Given the description of an element on the screen output the (x, y) to click on. 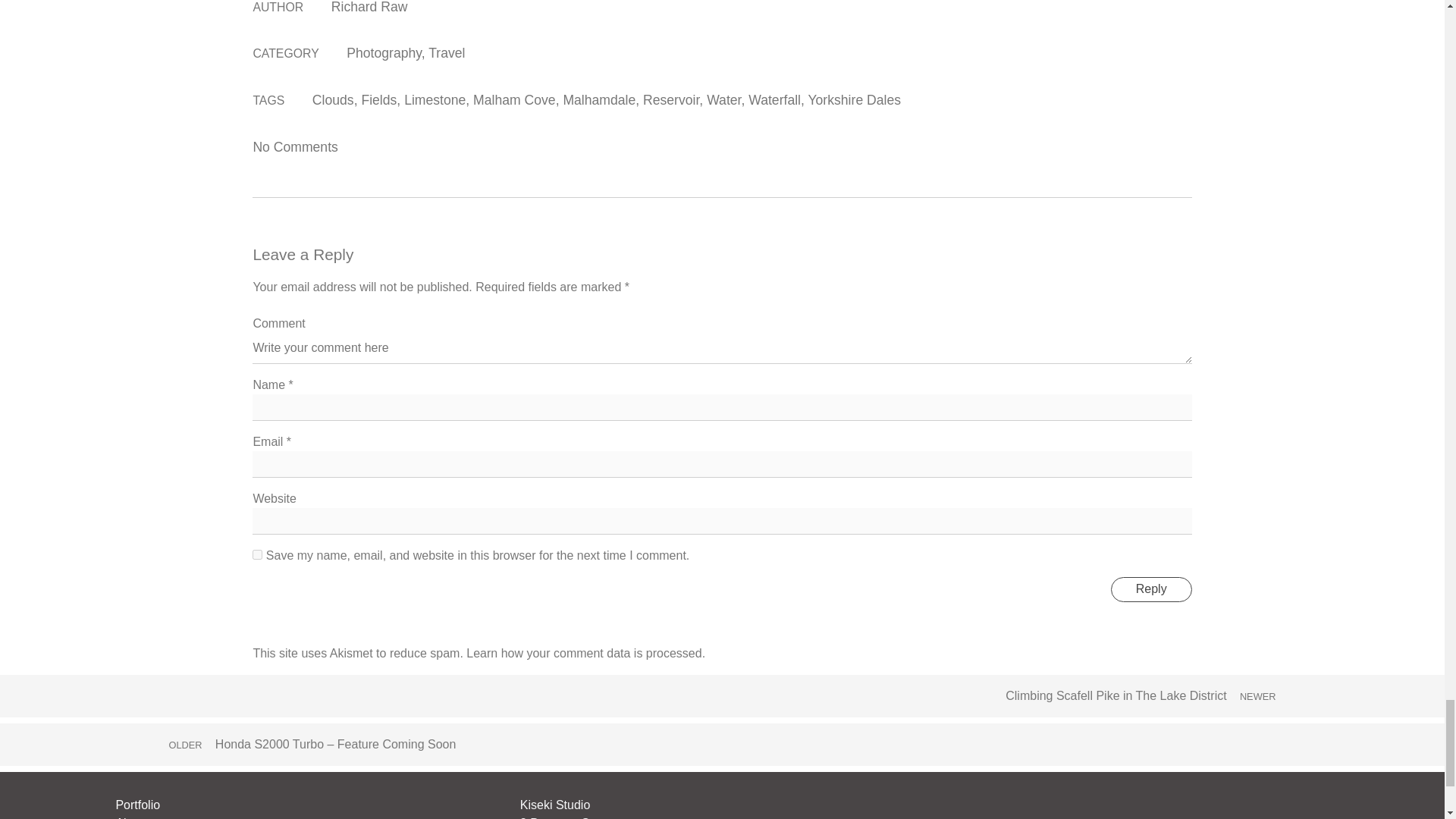
Clouds (333, 99)
Water (723, 99)
Malham Cove (514, 99)
Limestone (434, 99)
Malhamdale (598, 99)
yes (256, 554)
Learn how your comment data is processed (583, 653)
Photography (383, 52)
Waterfall (774, 99)
Yorkshire Dales (854, 99)
Reservoir (670, 99)
Reply (1151, 589)
Travel (446, 52)
Portfolio (137, 804)
About (131, 817)
